Given the description of an element on the screen output the (x, y) to click on. 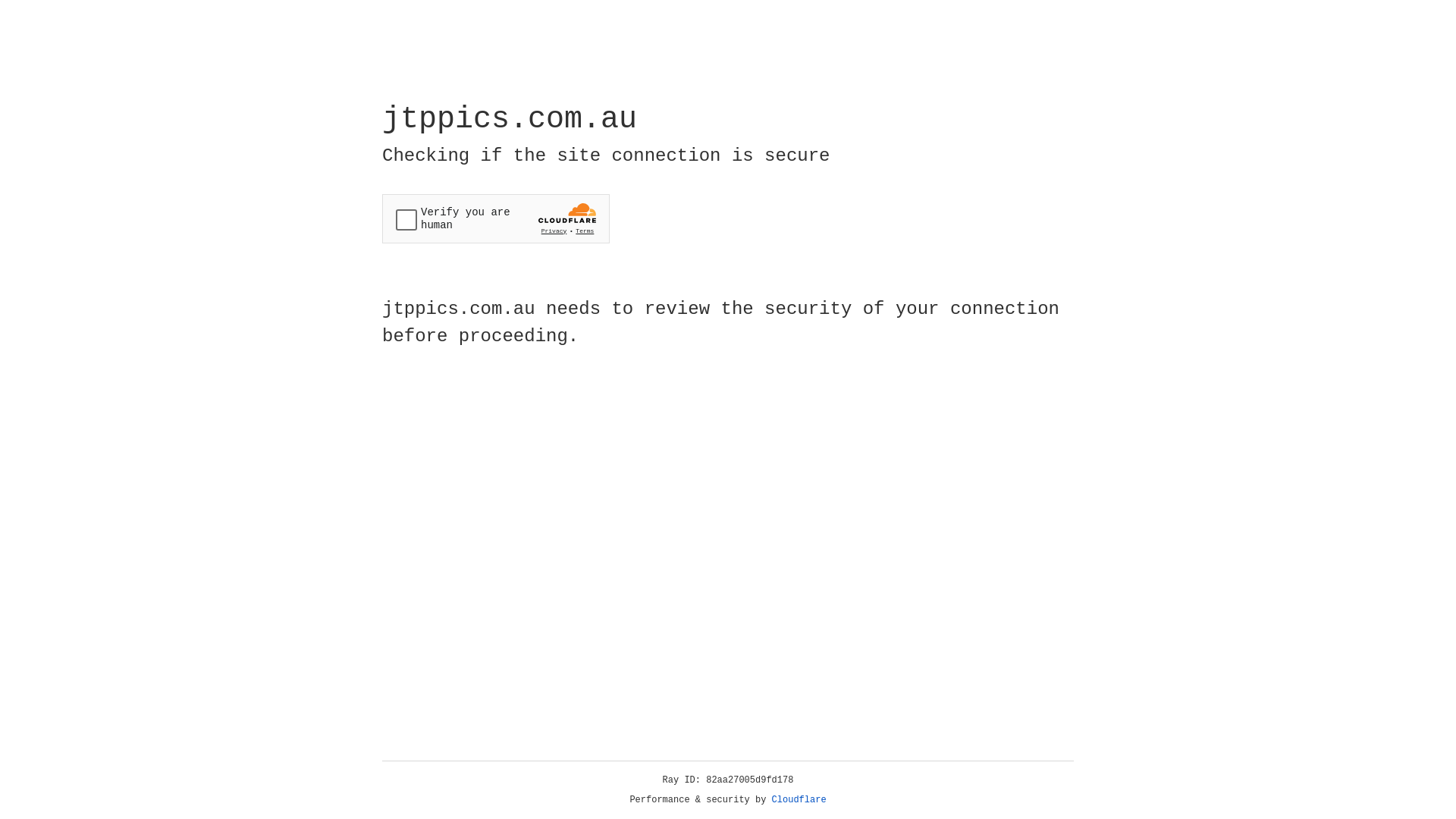
Widget containing a Cloudflare security challenge Element type: hover (495, 218)
Cloudflare Element type: text (798, 799)
